Given the description of an element on the screen output the (x, y) to click on. 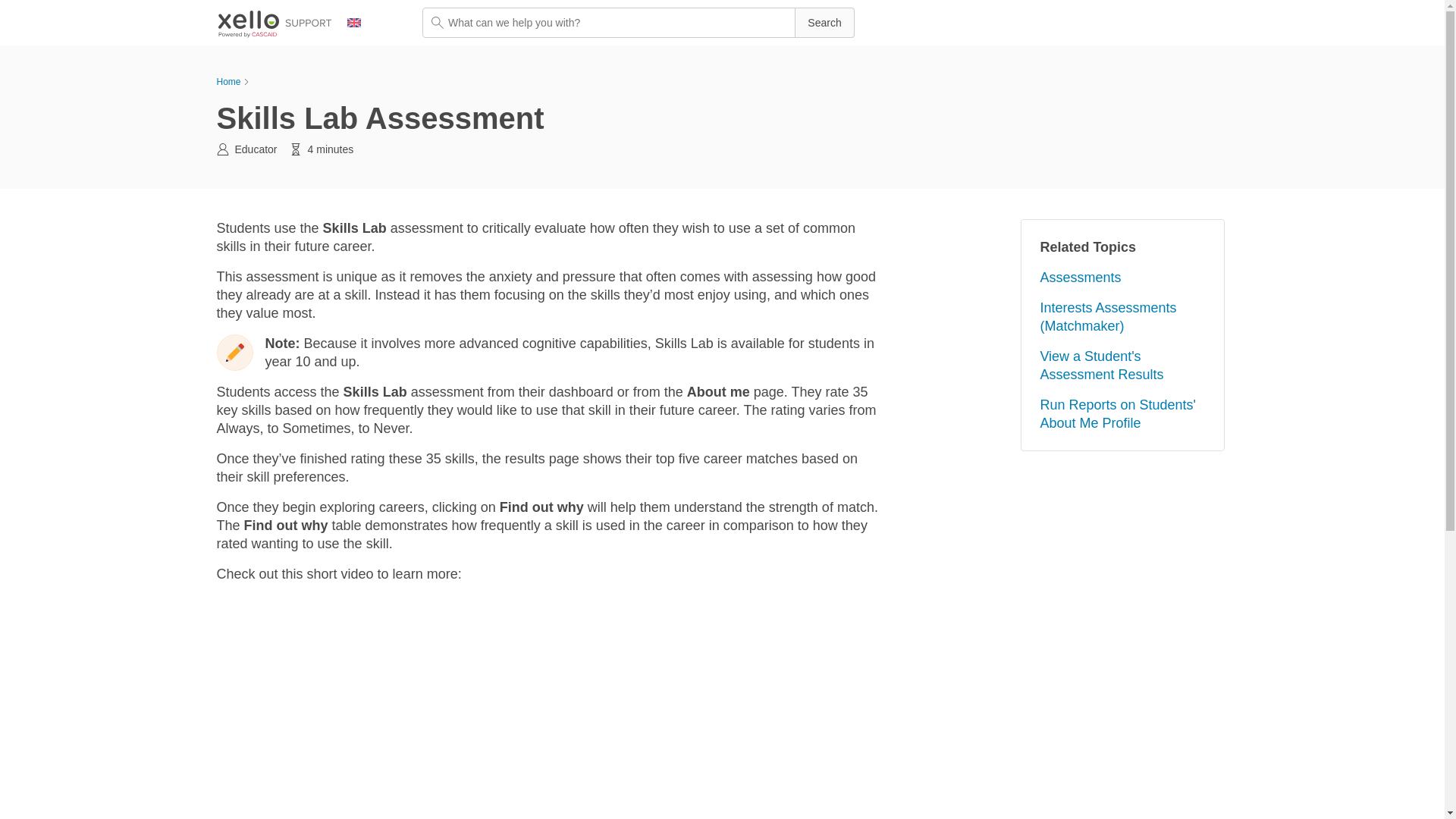
Run Reports on Students' About Me Profile (1117, 413)
Xello User (222, 149)
Home (228, 81)
Note (234, 352)
Search (823, 22)
Read Time (295, 149)
Assessments (1080, 277)
View a Student's Assessment Results (1101, 365)
Change language (362, 22)
